Given the description of an element on the screen output the (x, y) to click on. 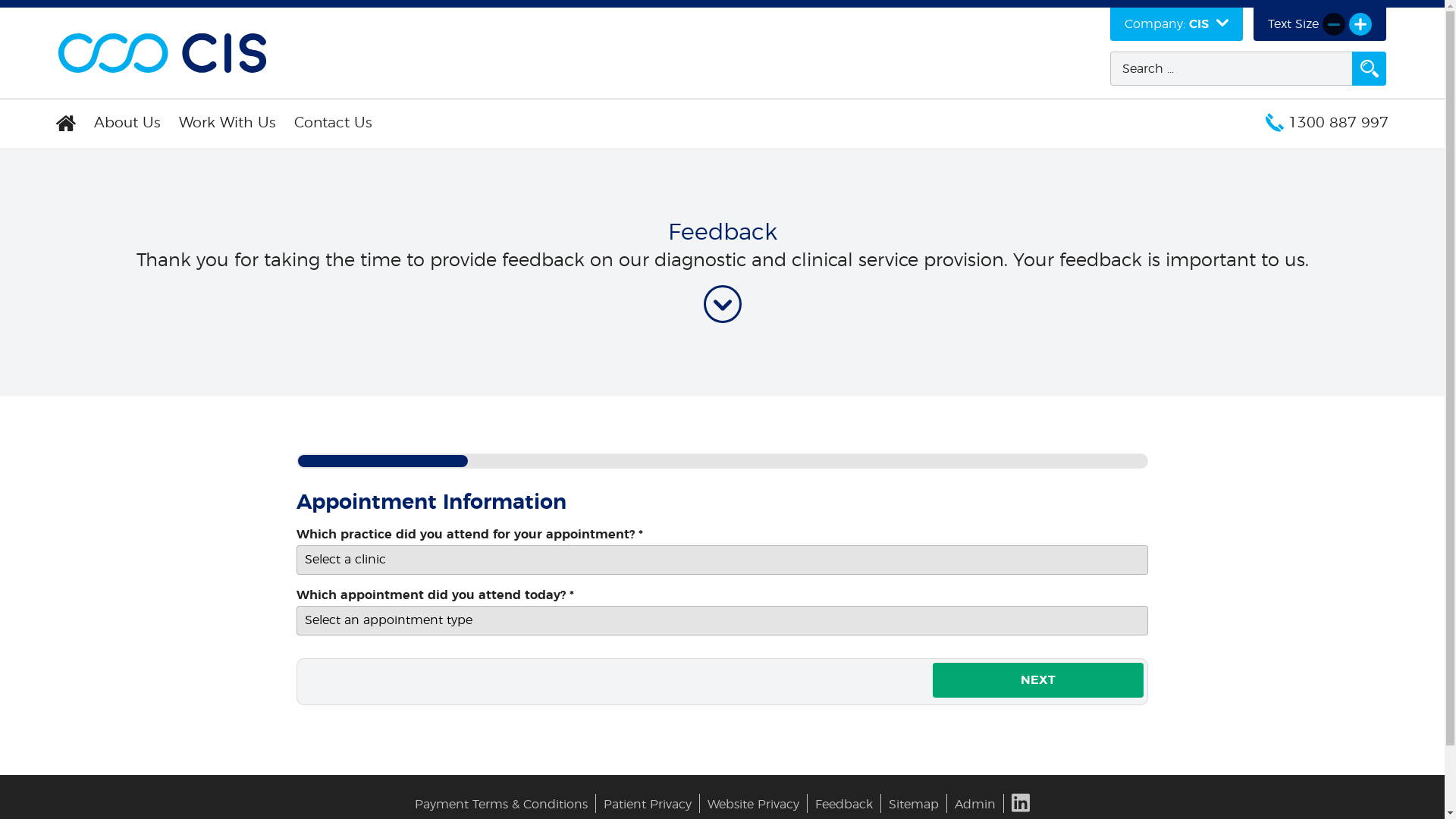
NEXT Element type: text (1037, 679)
Admin Element type: text (974, 804)
Home Element type: text (65, 123)
Payment Terms & Conditions Element type: text (500, 804)
1300 887 997 Element type: text (1326, 123)
Contact Us Element type: text (333, 123)
Patient Privacy Element type: text (647, 804)
Feedback Element type: text (843, 804)
Sitemap Element type: text (913, 804)
Website Privacy Element type: text (753, 804)
